Given the description of an element on the screen output the (x, y) to click on. 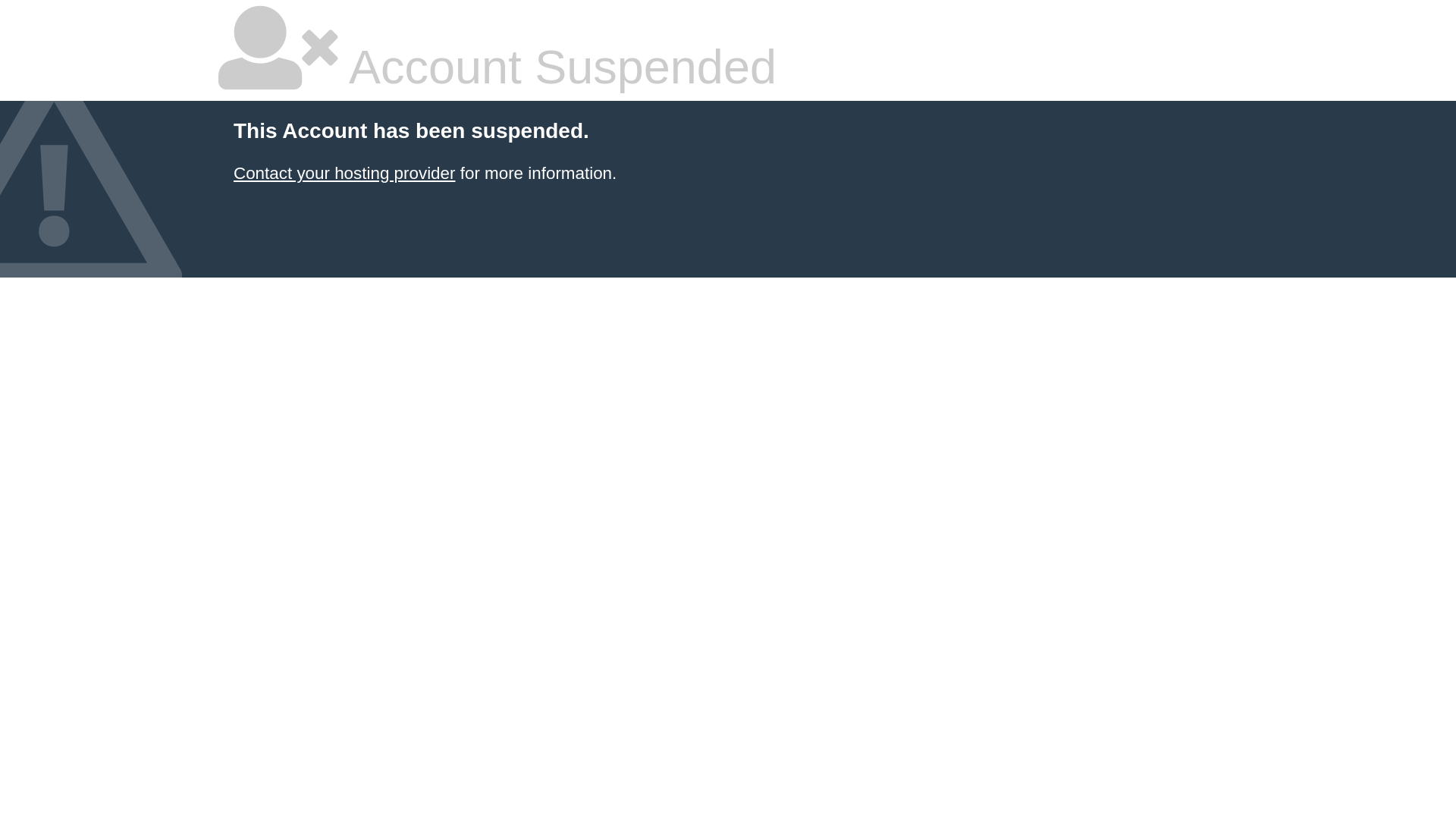
Contact your hosting provider Element type: text (344, 172)
